Given the description of an element on the screen output the (x, y) to click on. 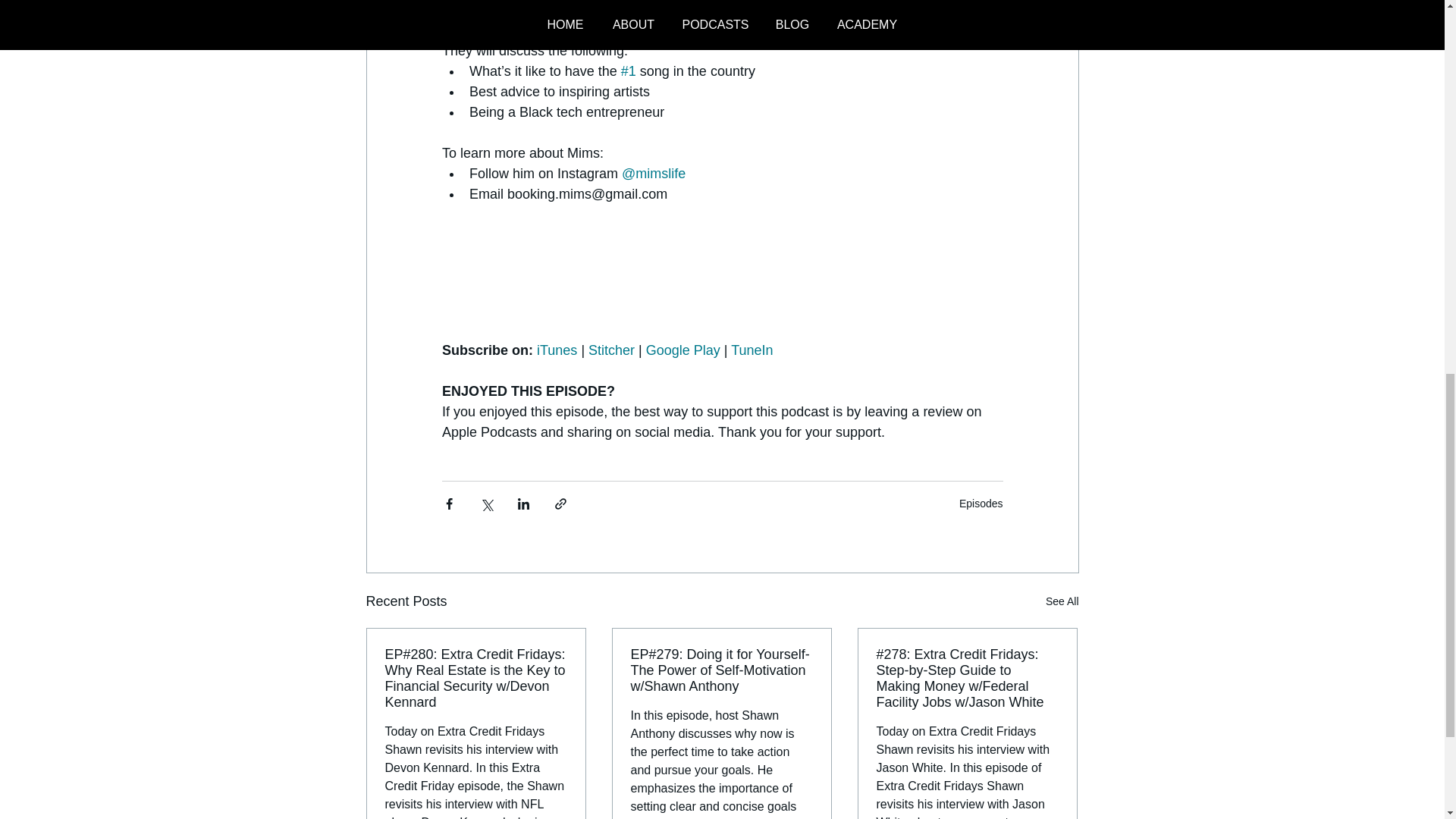
See All (1061, 601)
TuneIn (751, 350)
Stitcher (611, 350)
Google Play (682, 350)
iTunes (556, 350)
Episodes (981, 503)
